Given the description of an element on the screen output the (x, y) to click on. 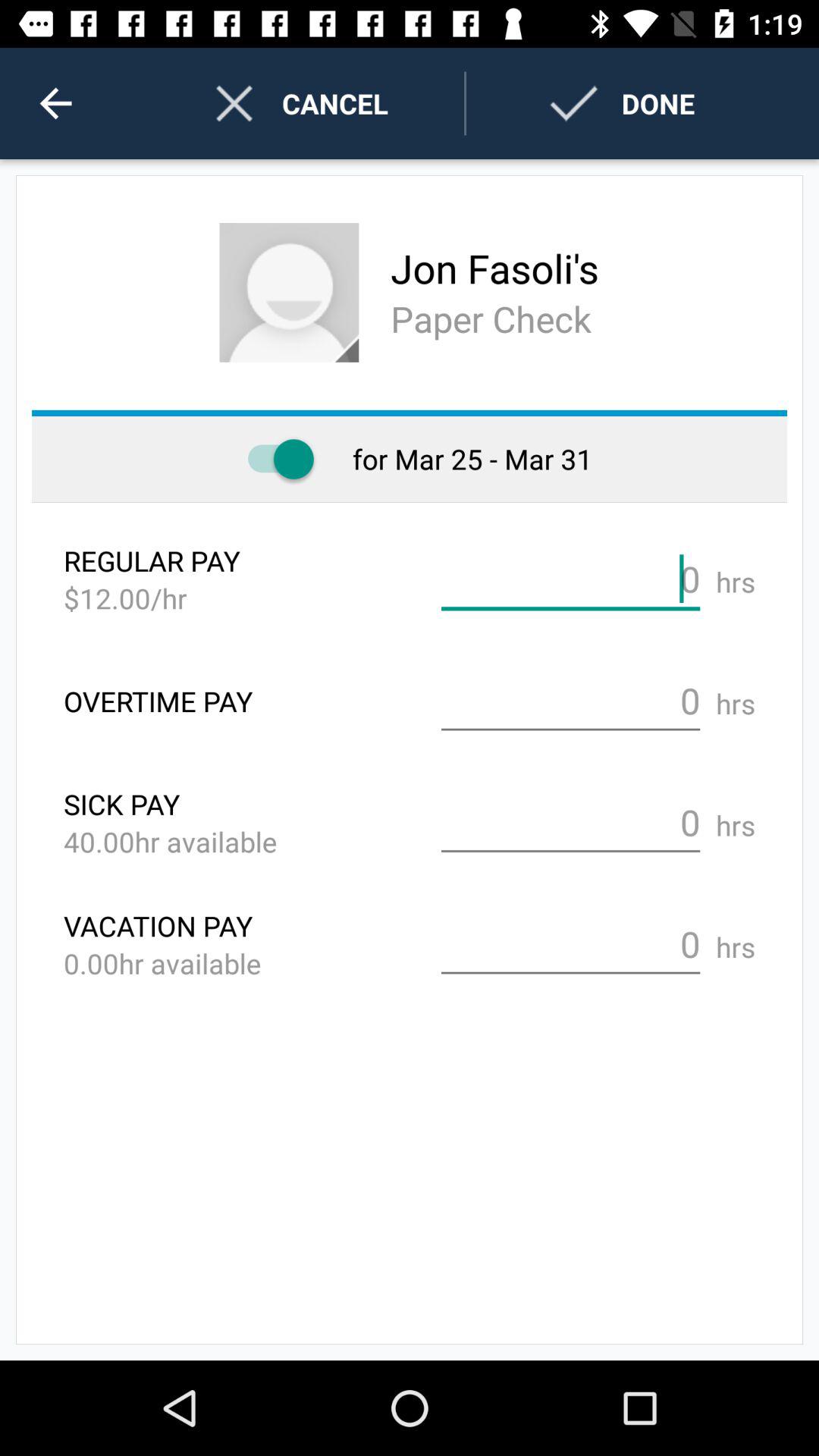
enter total overtime hours (570, 701)
